Given the description of an element on the screen output the (x, y) to click on. 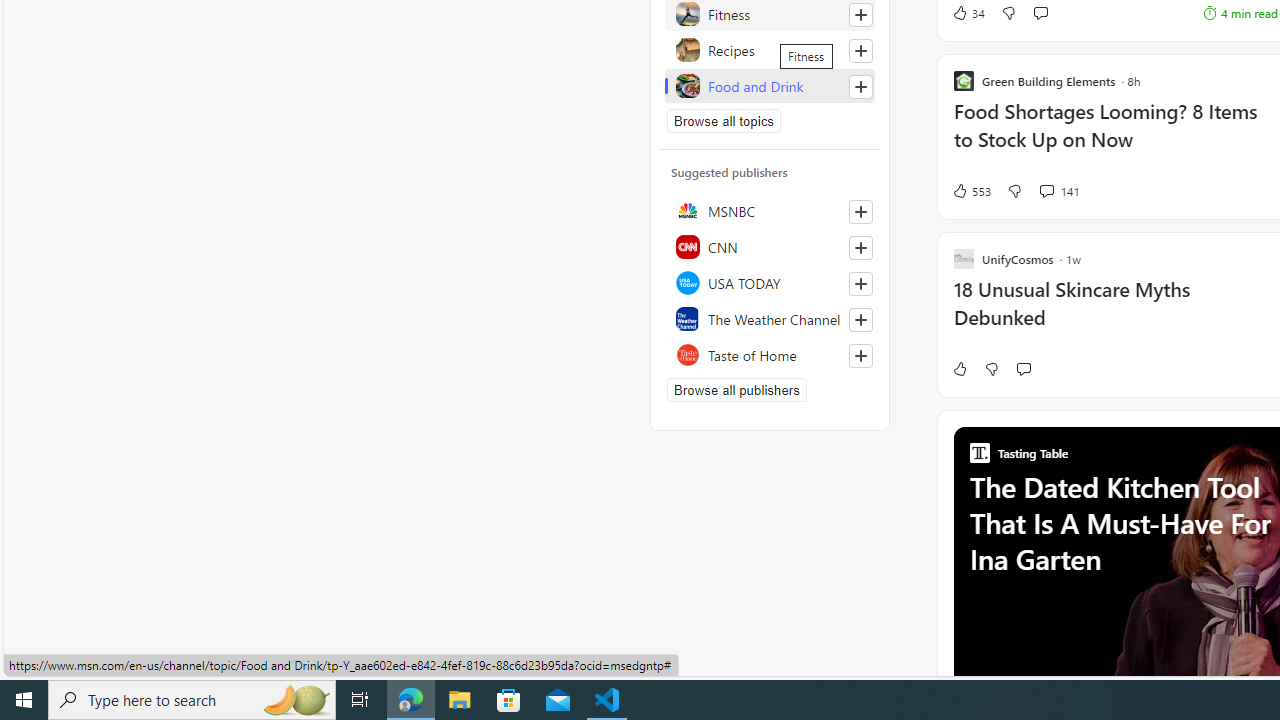
Follow this topic (860, 86)
Food and Drink (770, 85)
Taste of Home (770, 354)
View comments 141 Comment (1046, 190)
Follow this source (860, 355)
CNN (770, 246)
Follow this topic (860, 86)
The Weather Channel (770, 318)
34 Like (968, 12)
Start the conversation (1023, 368)
